Given the description of an element on the screen output the (x, y) to click on. 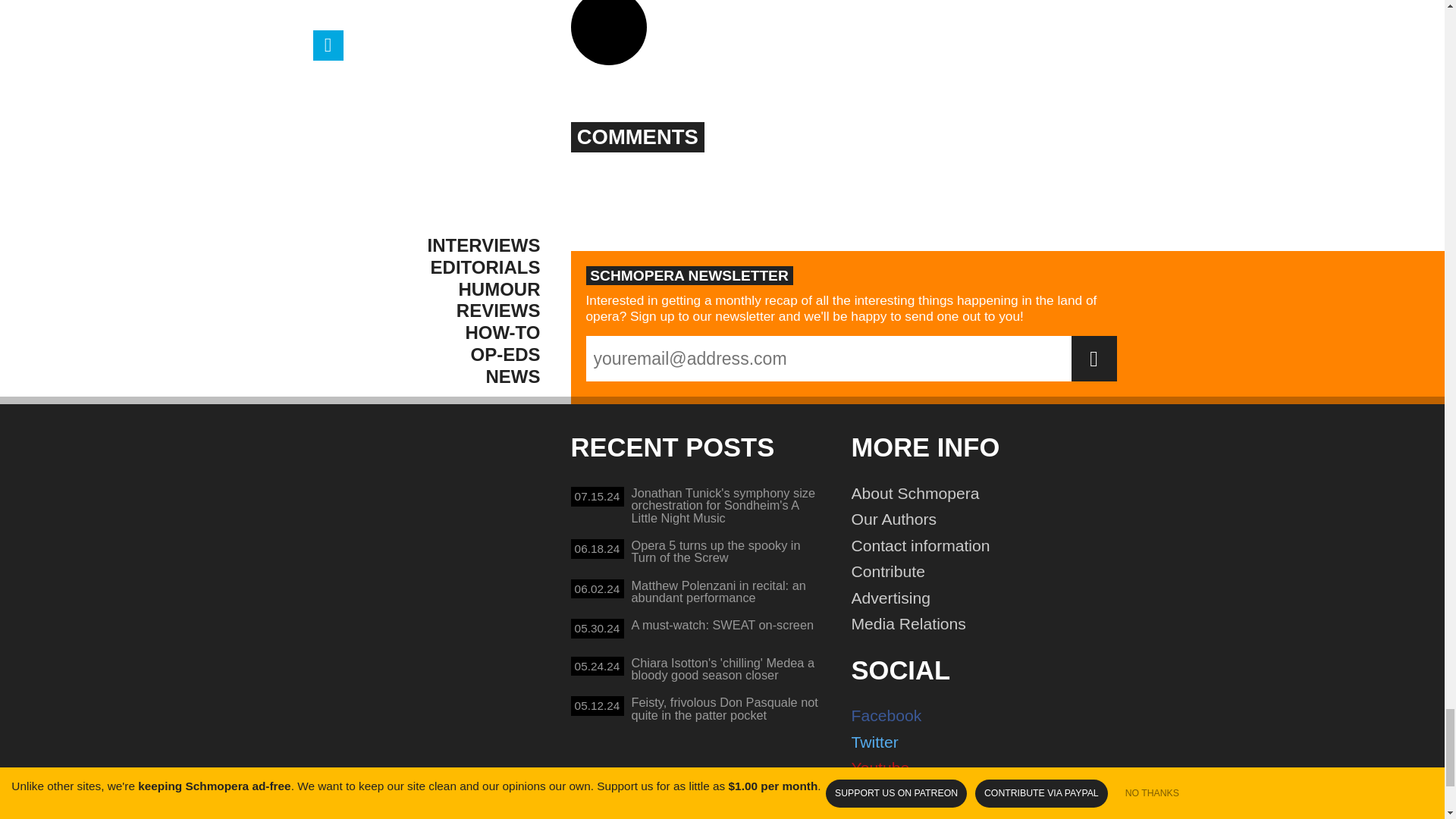
Back to home page (445, 529)
